Given the description of an element on the screen output the (x, y) to click on. 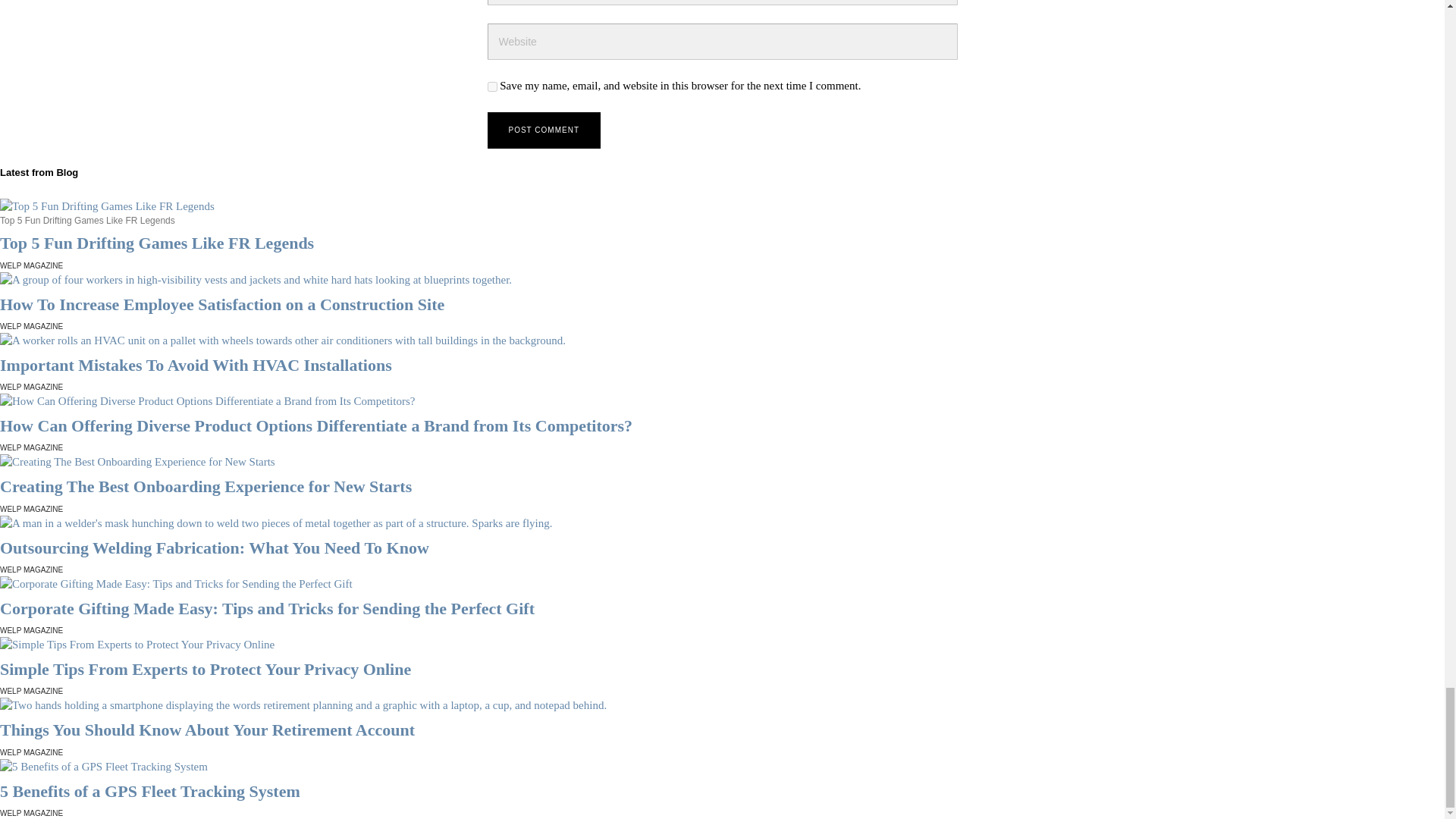
Post Comment (542, 130)
yes (491, 86)
